Given the description of an element on the screen output the (x, y) to click on. 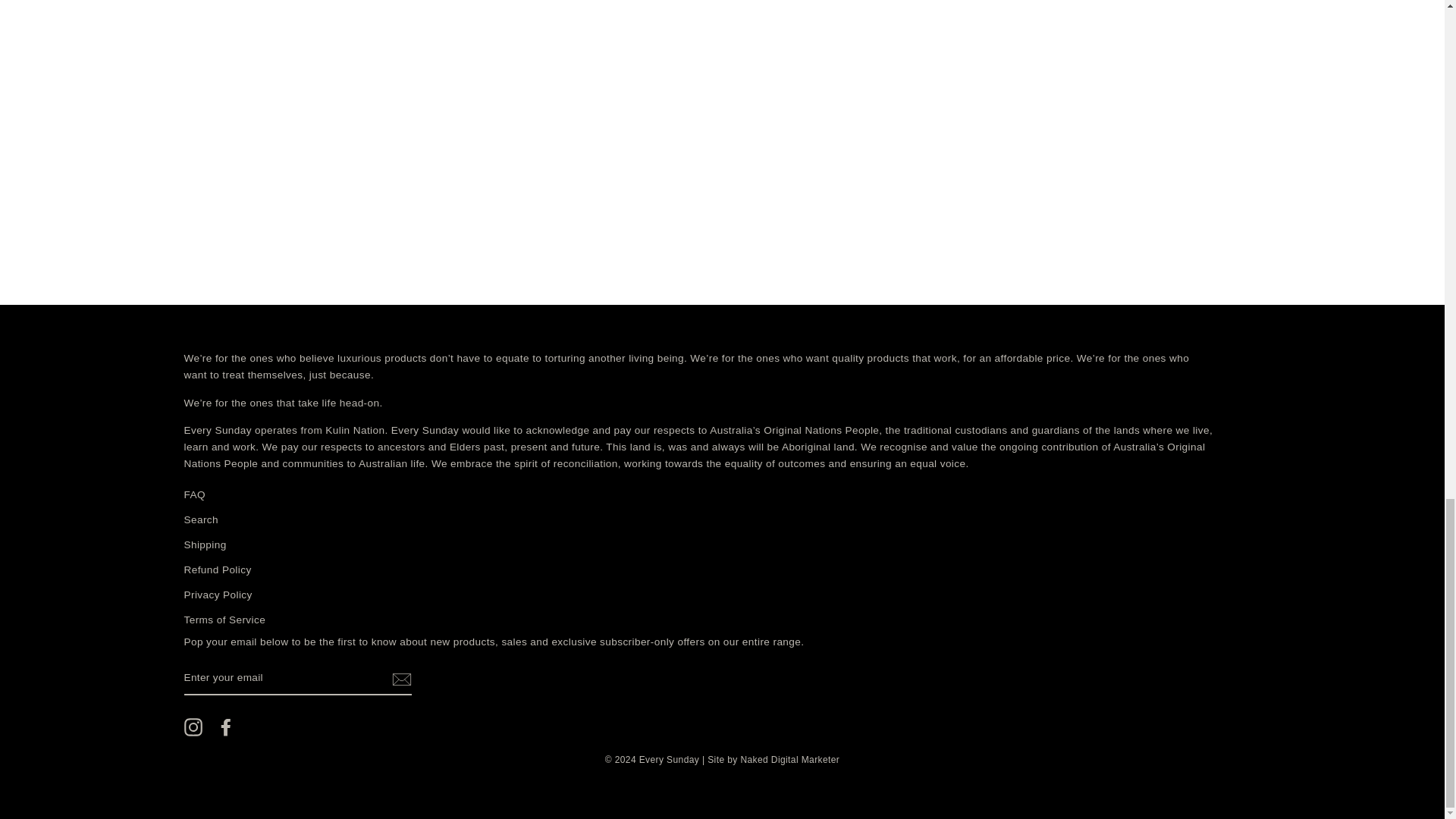
Every Sunday  on Instagram (192, 727)
Every Sunday  on Facebook (225, 727)
